Given the description of an element on the screen output the (x, y) to click on. 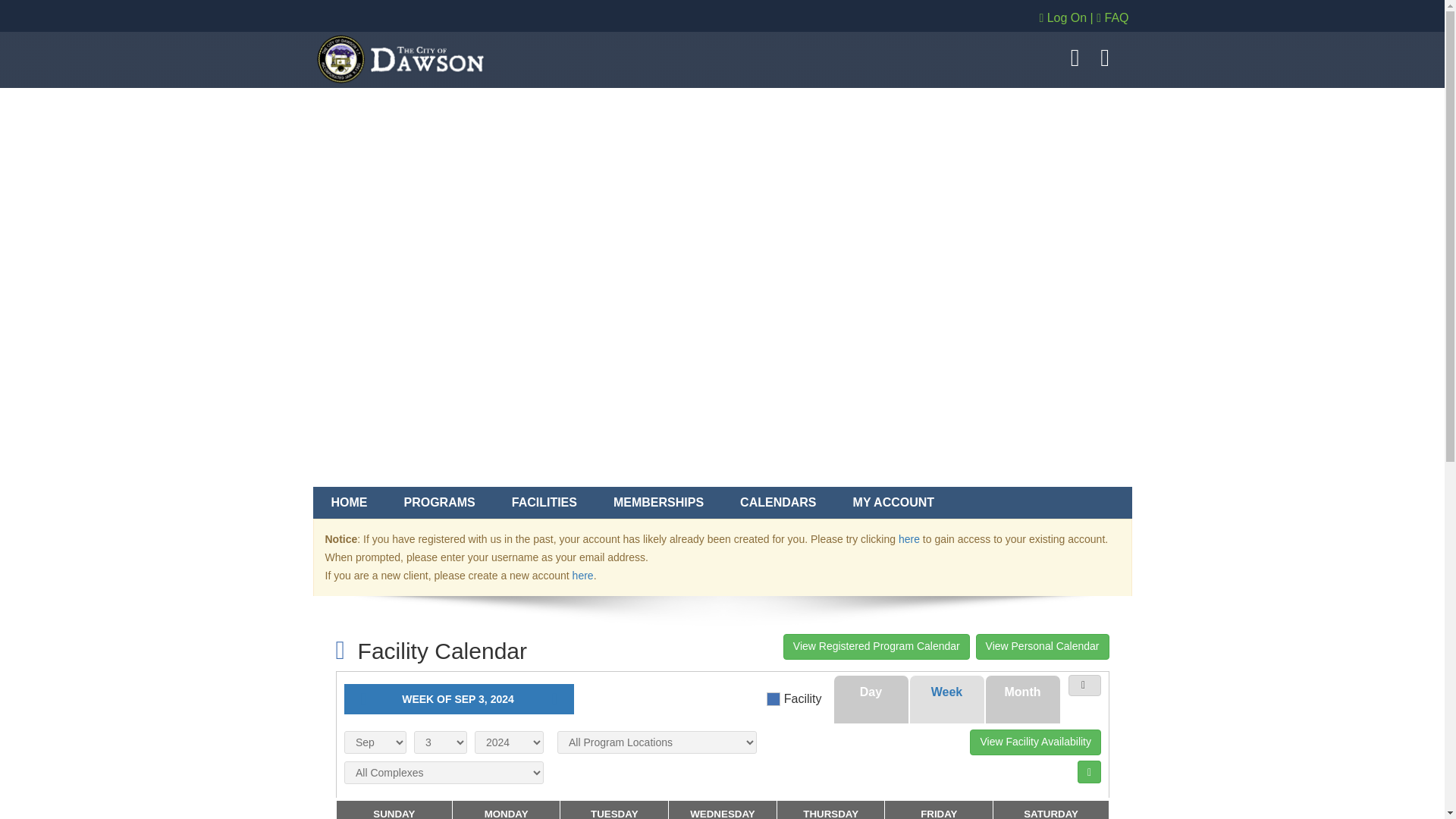
MEMBERSHIPS (658, 502)
here (909, 539)
 Log On (1062, 17)
HOME (349, 502)
View Personal Calendar (1042, 646)
FACILITIES (544, 502)
 FAQ (1112, 17)
here (583, 575)
View Registered Program Calendar (876, 646)
CALENDARS (778, 502)
